Given the description of an element on the screen output the (x, y) to click on. 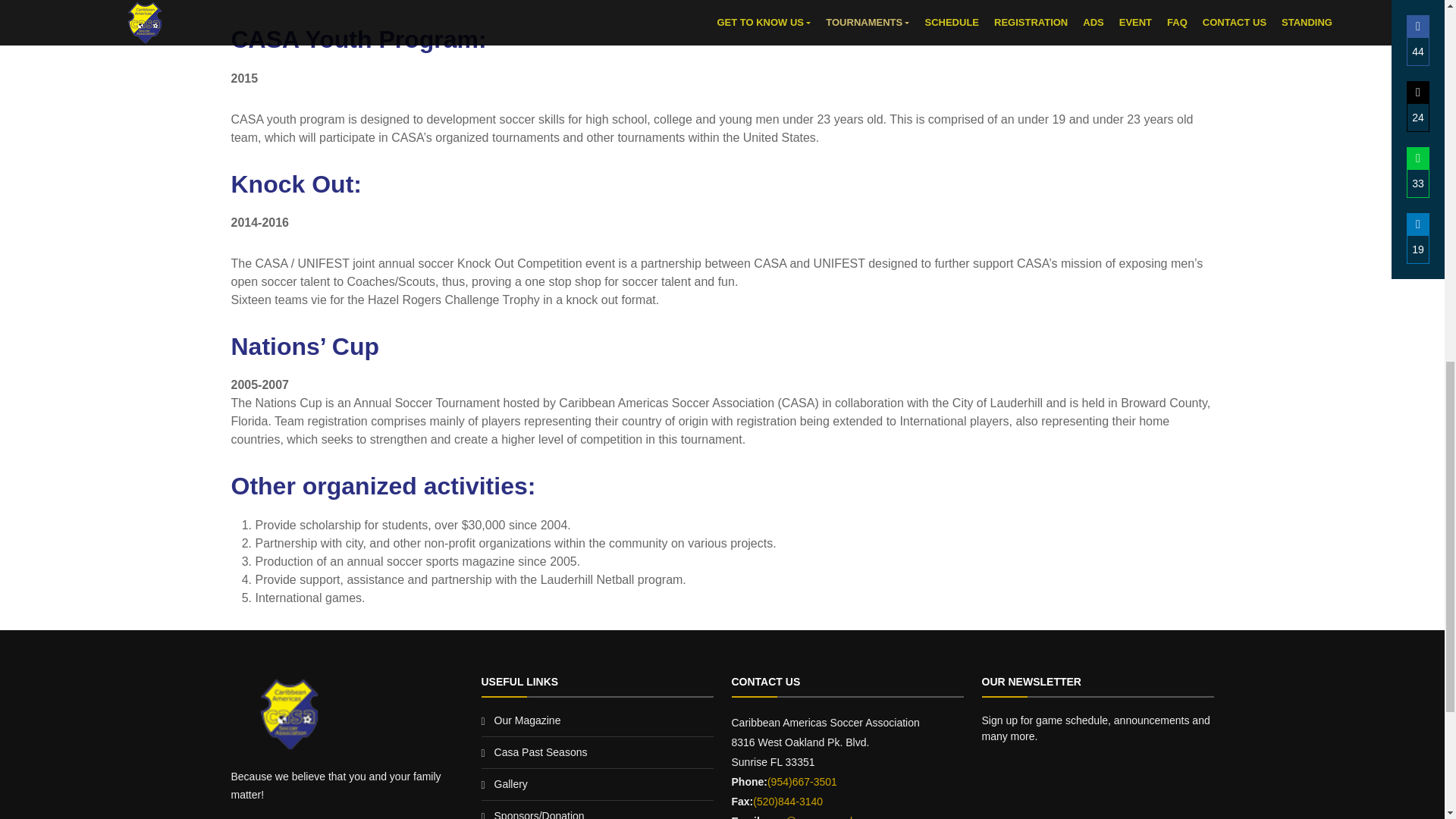
Gallery (511, 784)
Our Magazine (527, 720)
Casa Past Seasons (541, 752)
